Given the description of an element on the screen output the (x, y) to click on. 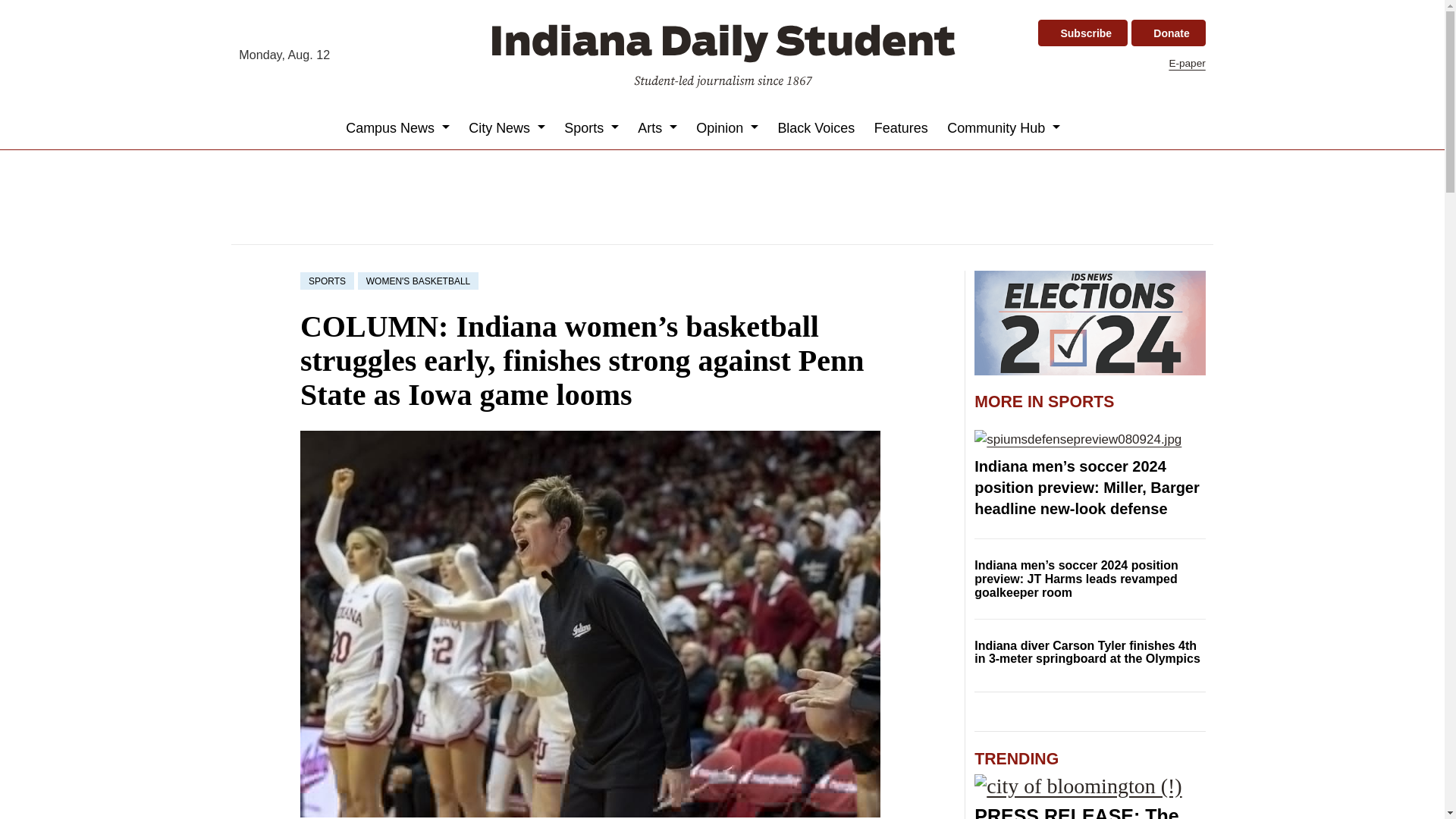
3rd party ad content (721, 196)
Black Voices (816, 127)
E-paper (1187, 62)
Donate (1168, 32)
Sports (591, 127)
Arts (657, 127)
City News (507, 127)
